Given the description of an element on the screen output the (x, y) to click on. 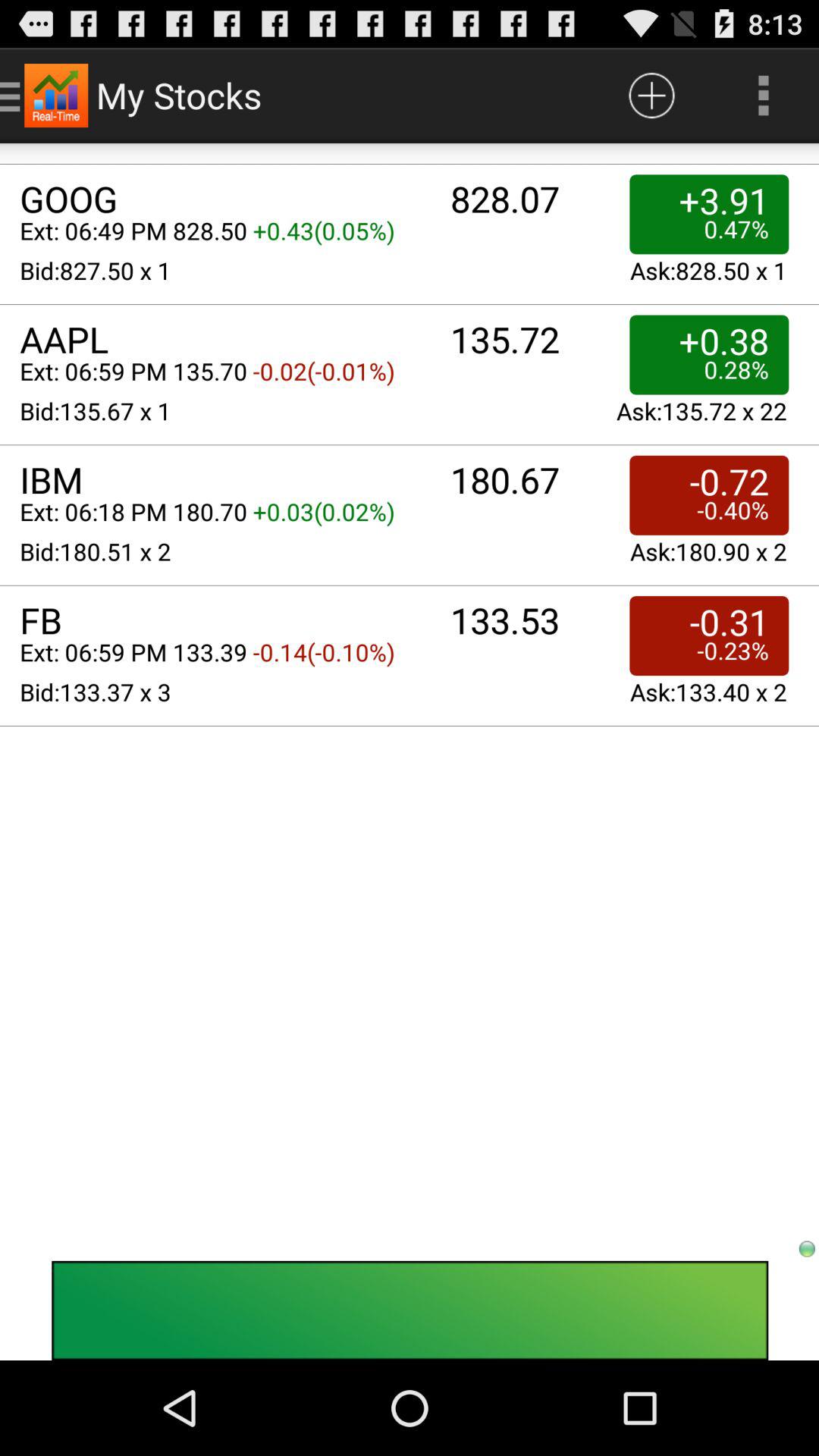
tap app above the +3.91 app (651, 95)
